Given the description of an element on the screen output the (x, y) to click on. 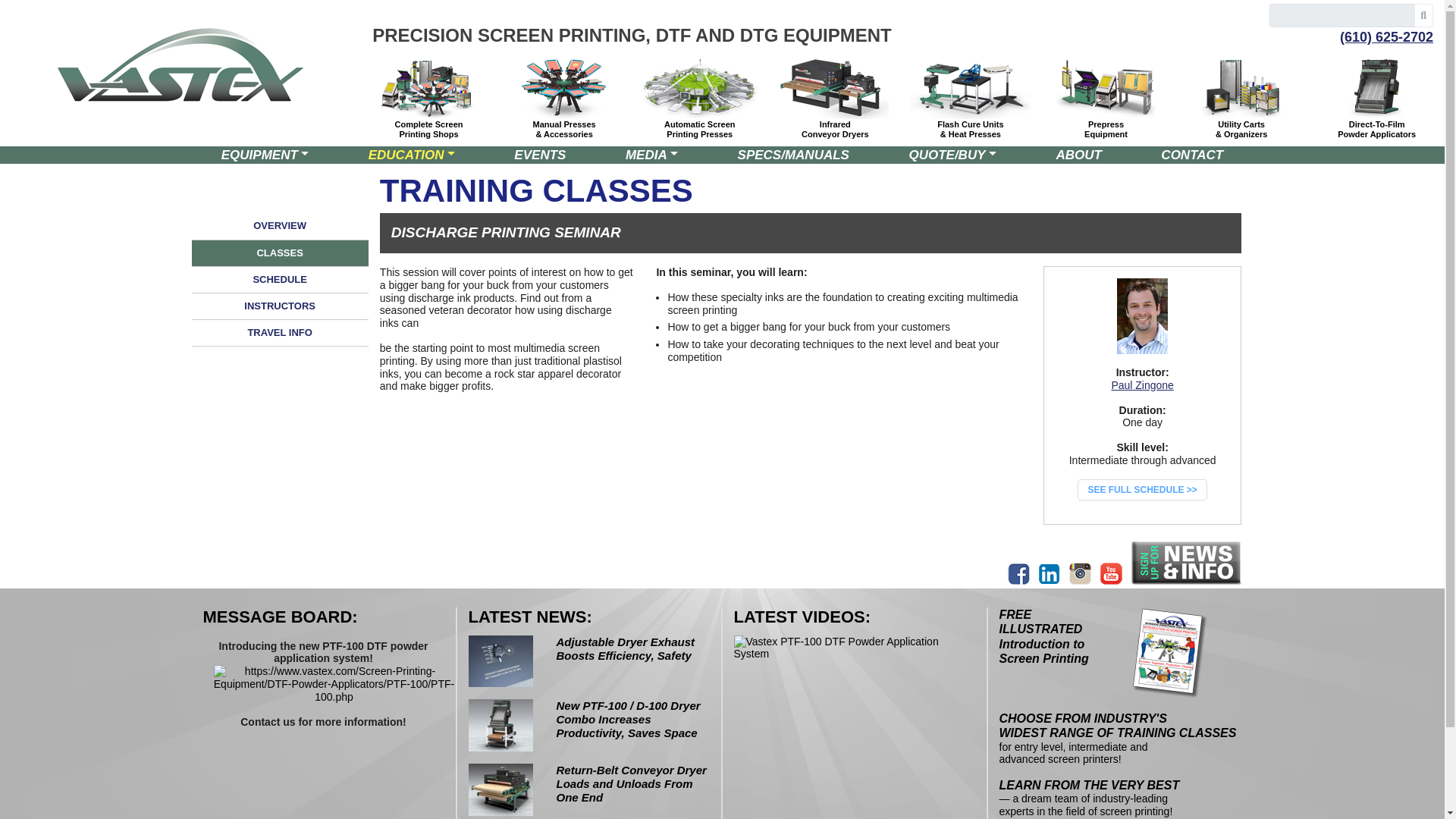
EQUIPMENT (428, 128)
